Given the description of an element on the screen output the (x, y) to click on. 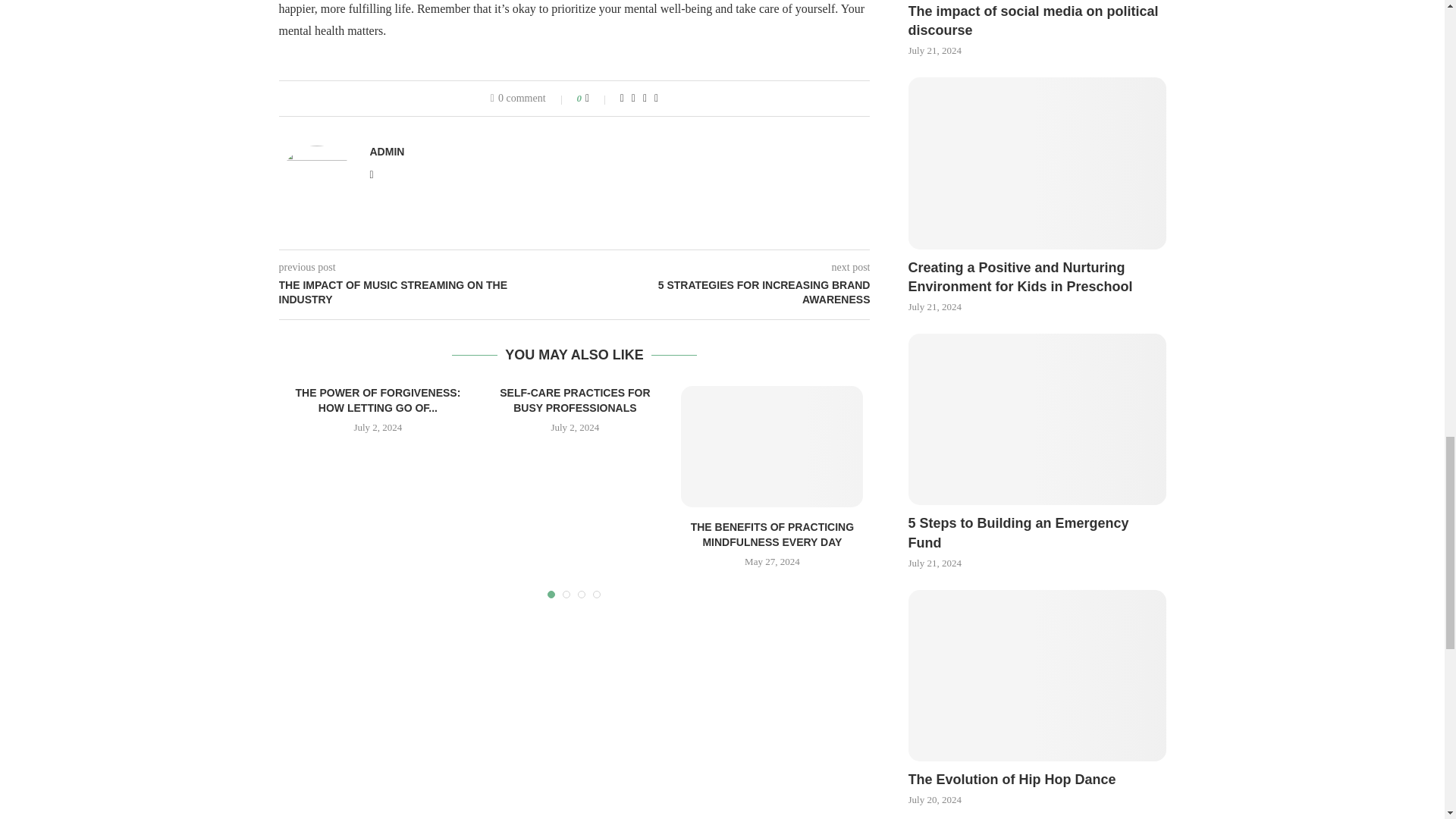
Author admin (386, 151)
Like (597, 98)
The Benefits of Practicing Mindfulness Every Day (772, 445)
